Given the description of an element on the screen output the (x, y) to click on. 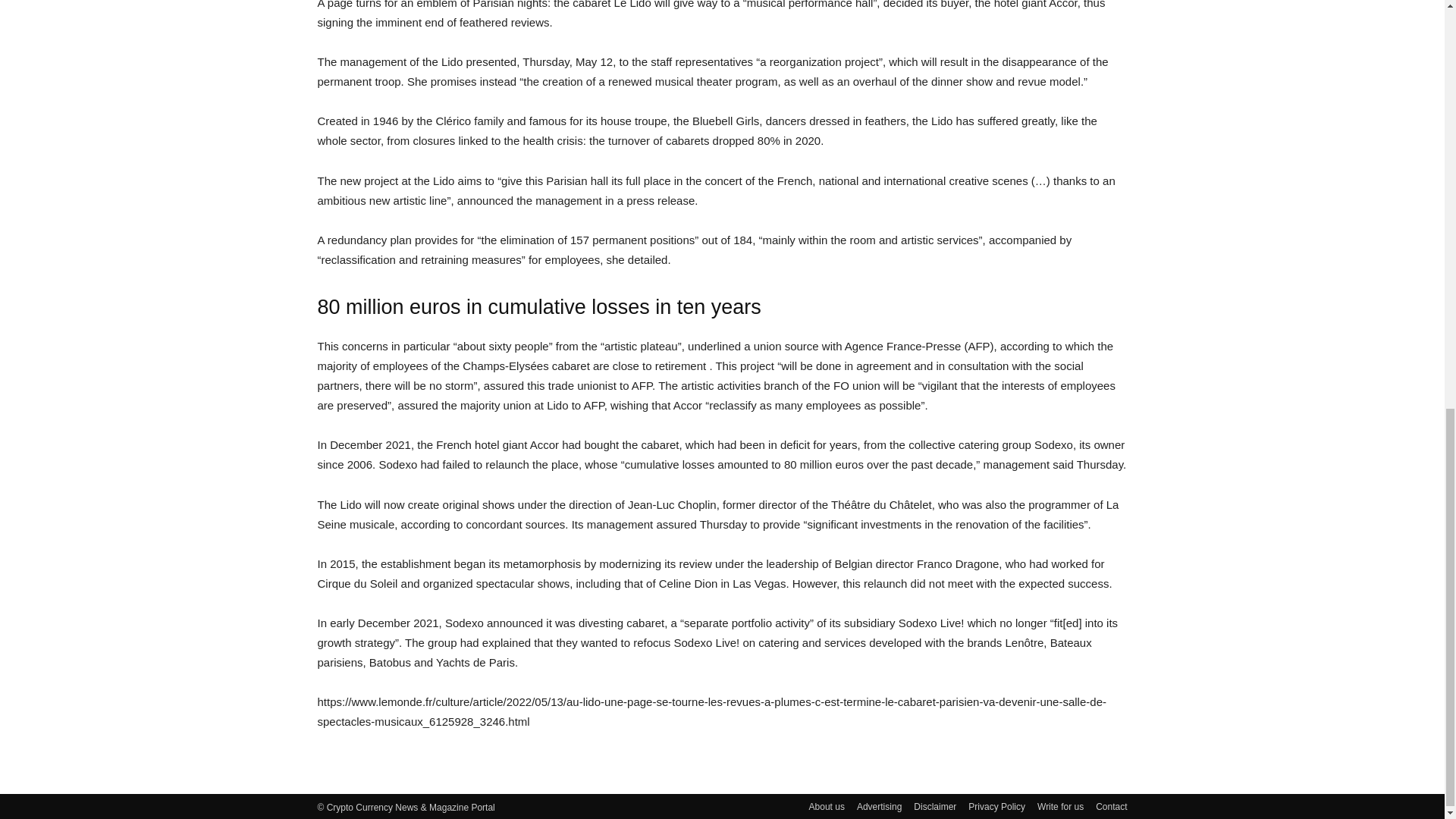
Write for us (1059, 807)
Advertising (879, 807)
Disclaimer (935, 807)
Privacy Policy (996, 807)
About us (826, 807)
